Given the description of an element on the screen output the (x, y) to click on. 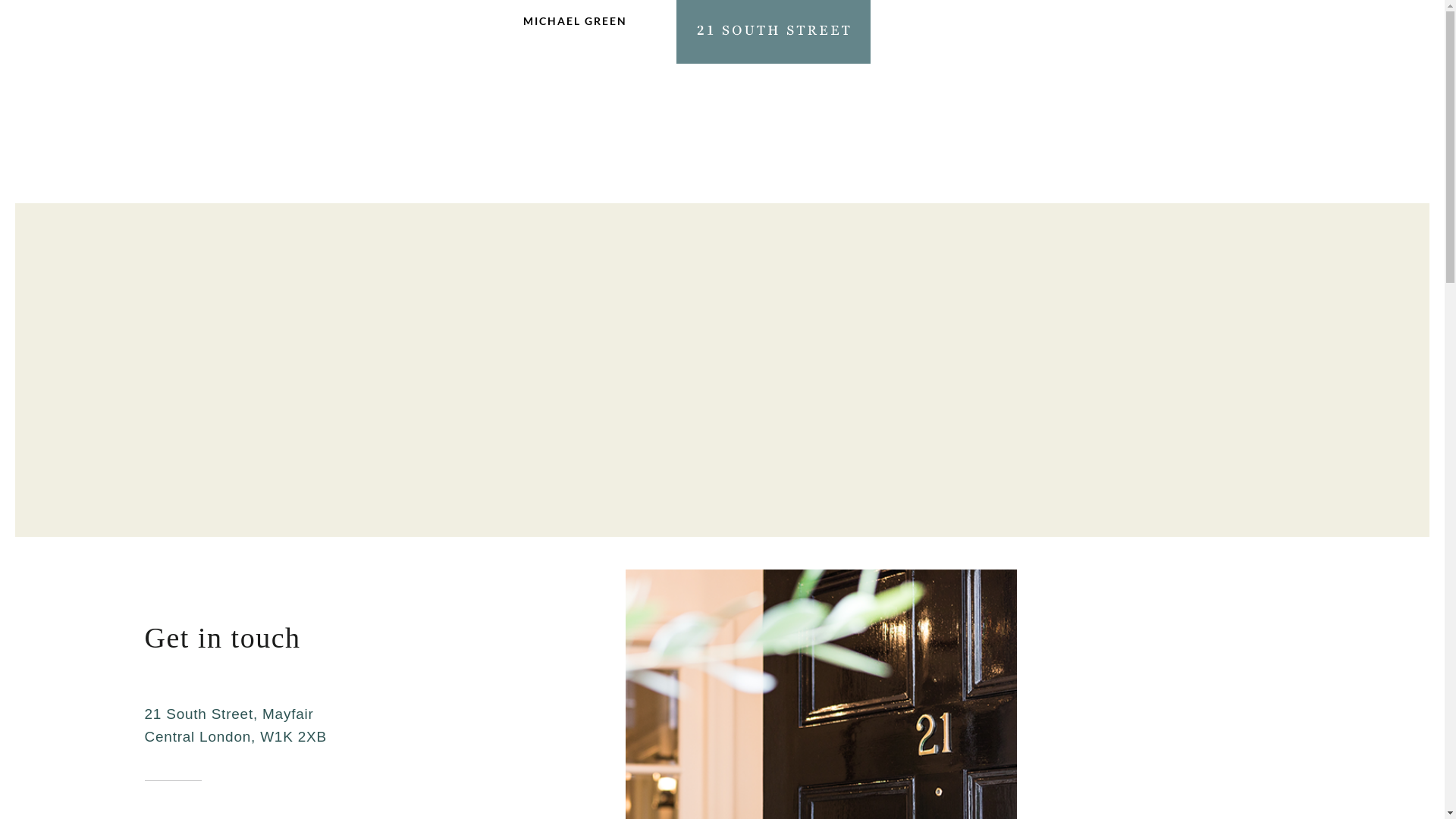
MICHAEL GREEN Element type: text (575, 28)
